Given the description of an element on the screen output the (x, y) to click on. 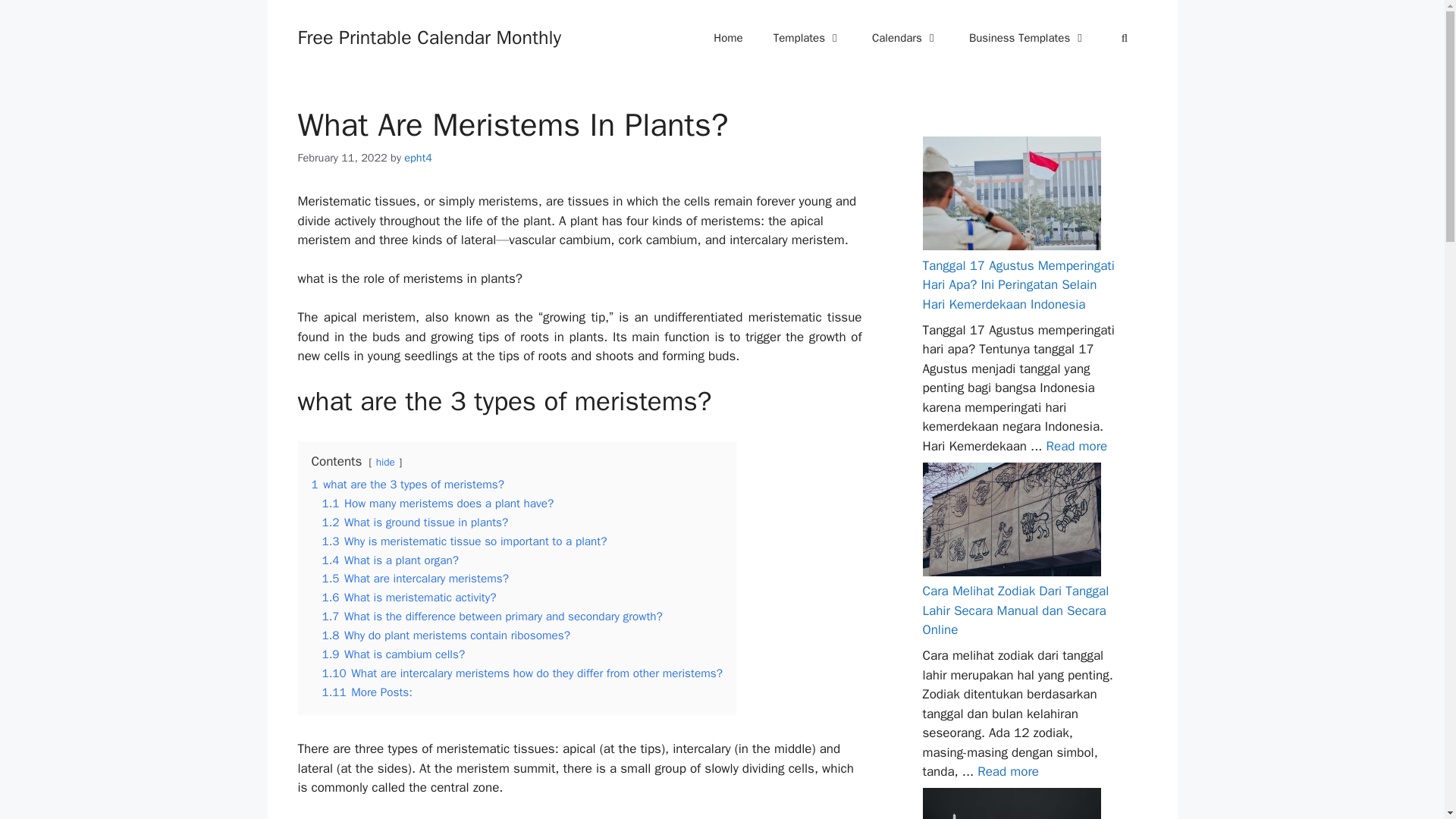
1.9 What is cambium cells? (392, 654)
View all posts by epht4 (418, 157)
1.2 What is ground tissue in plants? (414, 522)
Home (727, 37)
Calendars (905, 37)
Free Printable Calendar Monthly (428, 37)
epht4 (418, 157)
Templates (807, 37)
